Given the description of an element on the screen output the (x, y) to click on. 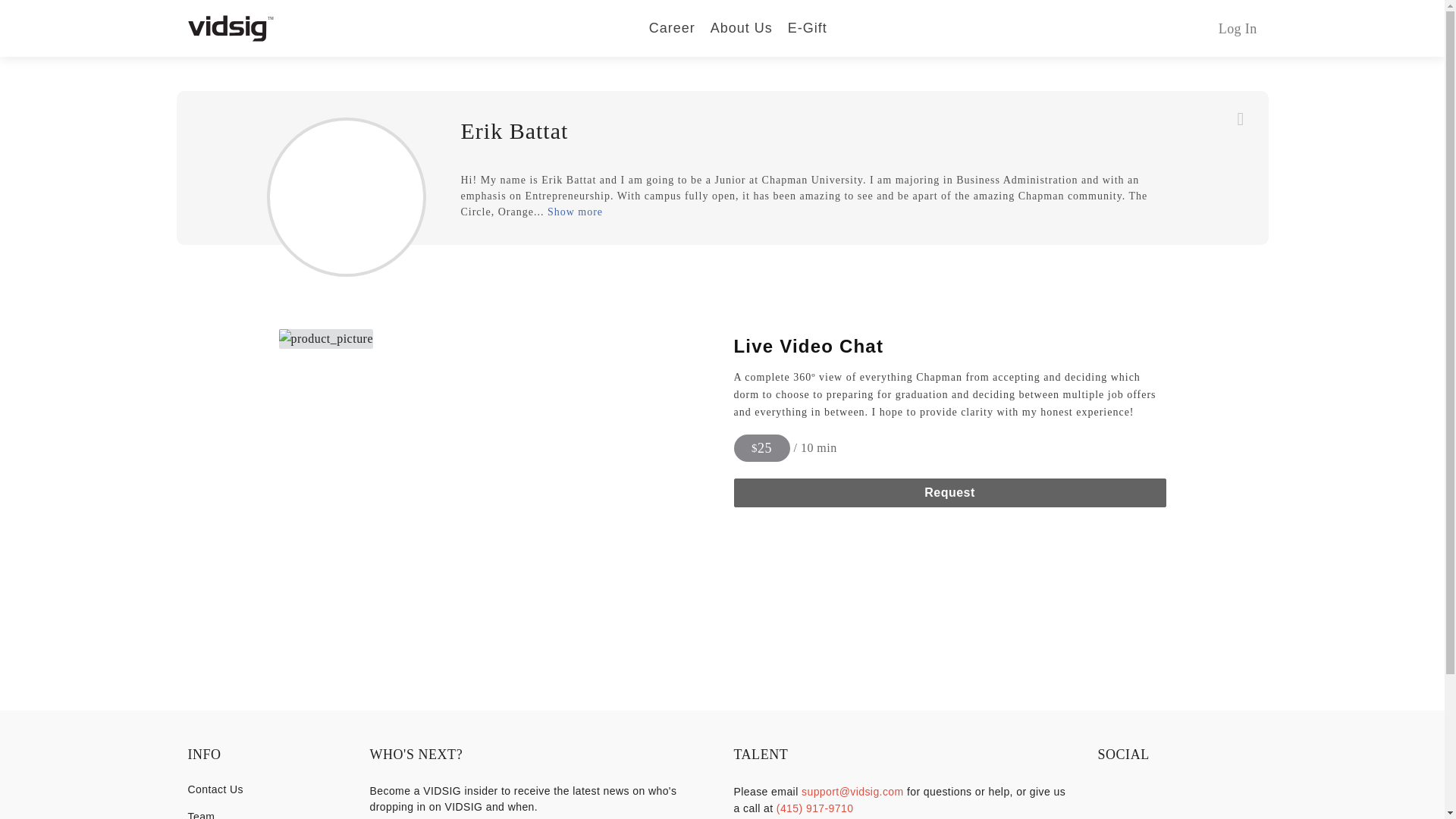
Career (672, 28)
Log In (1237, 28)
Request (949, 492)
E-Gift (807, 28)
About Us (741, 28)
Contact Us (267, 788)
Team (267, 814)
